Given the description of an element on the screen output the (x, y) to click on. 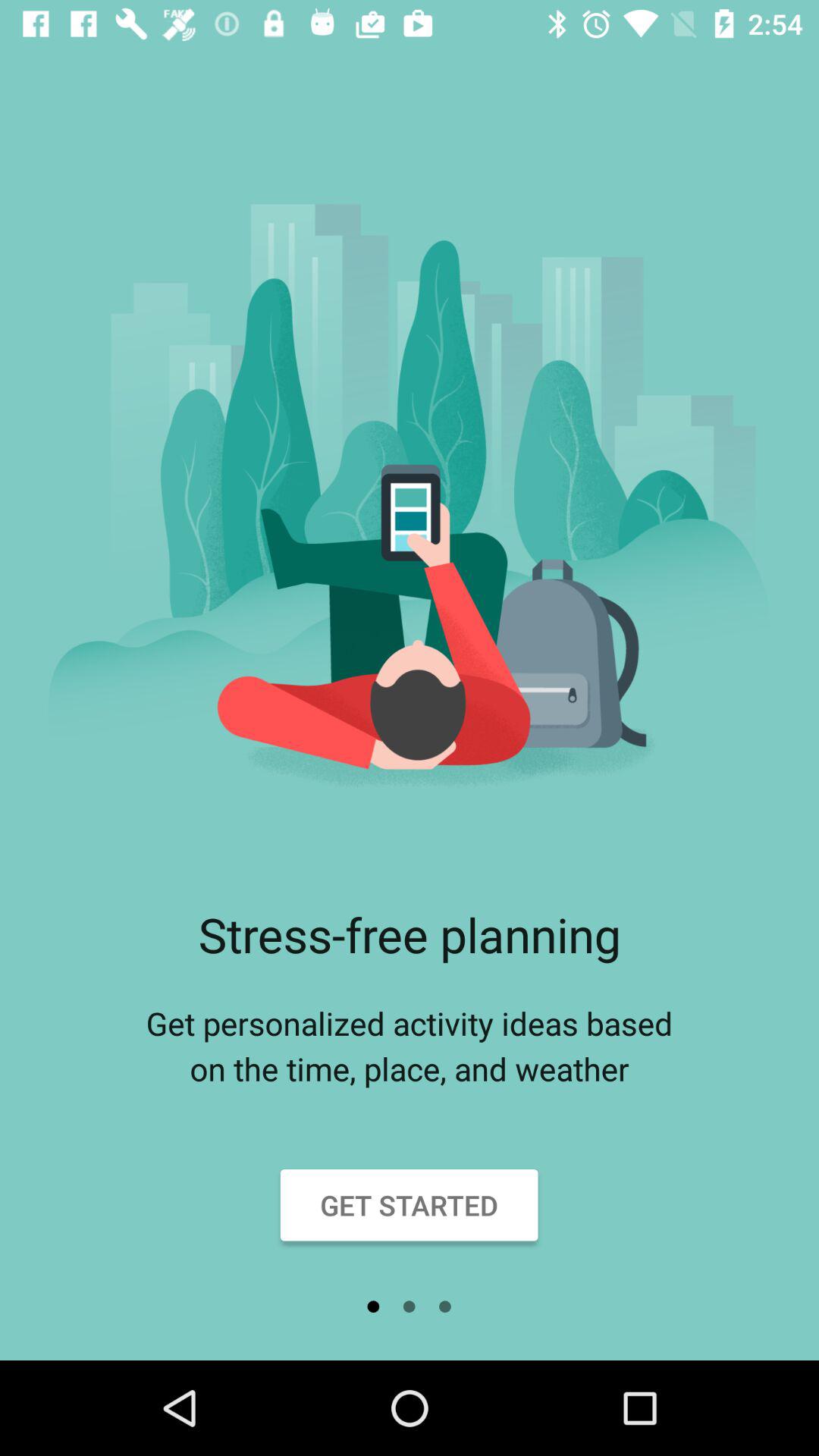
open the icon below get personalized activity item (409, 1204)
